Given the description of an element on the screen output the (x, y) to click on. 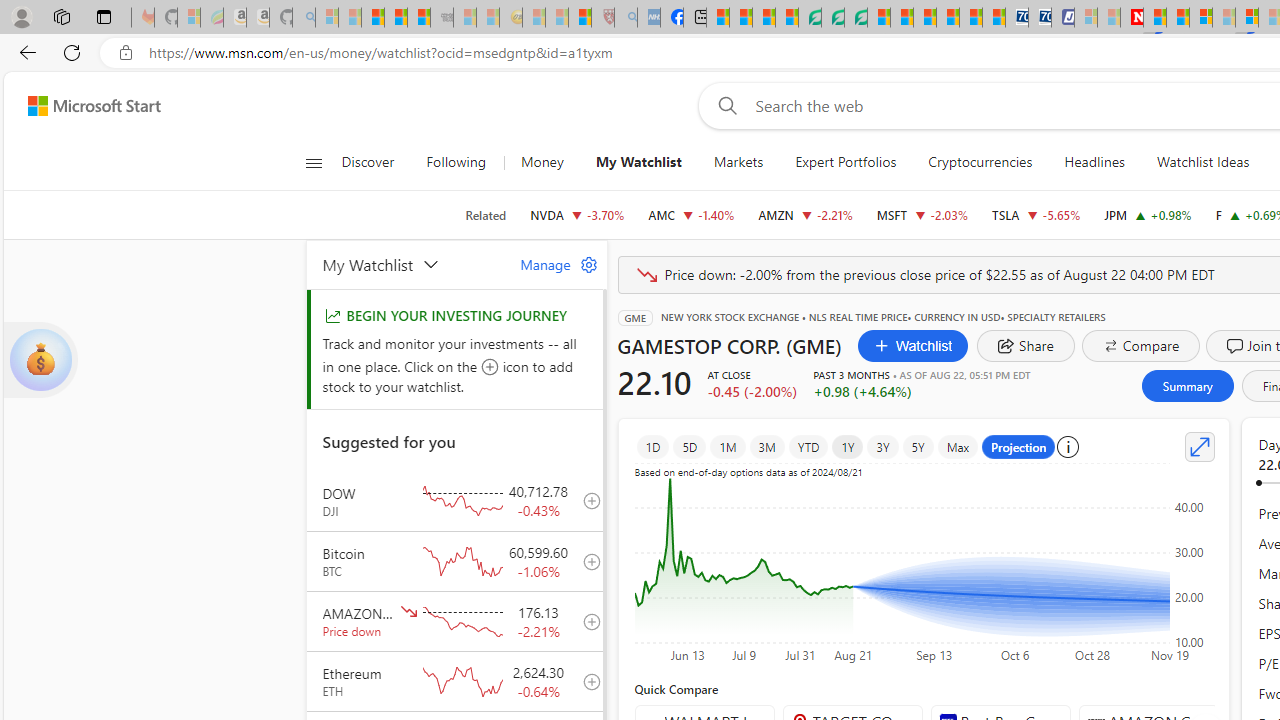
add to your watchlist (586, 681)
YTD (808, 446)
My Watchlist (409, 264)
Headlines (1094, 162)
JPM JPMORGAN CHASE & CO. increase 216.71 +2.11 +0.98% (1147, 214)
My Watchlist (637, 162)
3M (766, 446)
